Given the description of an element on the screen output the (x, y) to click on. 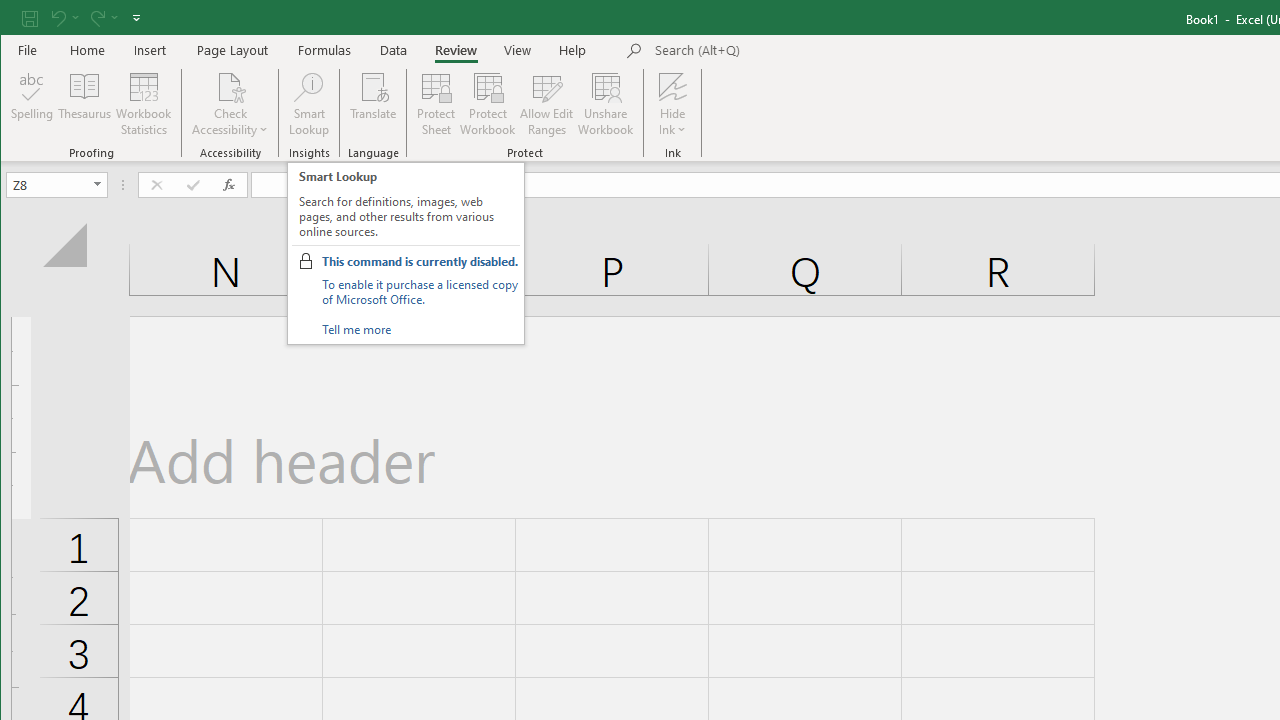
Thesaurus... (84, 104)
Translate (373, 104)
This command is currently disabled. (419, 261)
Check Accessibility (230, 86)
Check Accessibility (230, 104)
Protect Sheet... (436, 104)
Protect Workbook... (488, 104)
Workbook Statistics (143, 104)
